Given the description of an element on the screen output the (x, y) to click on. 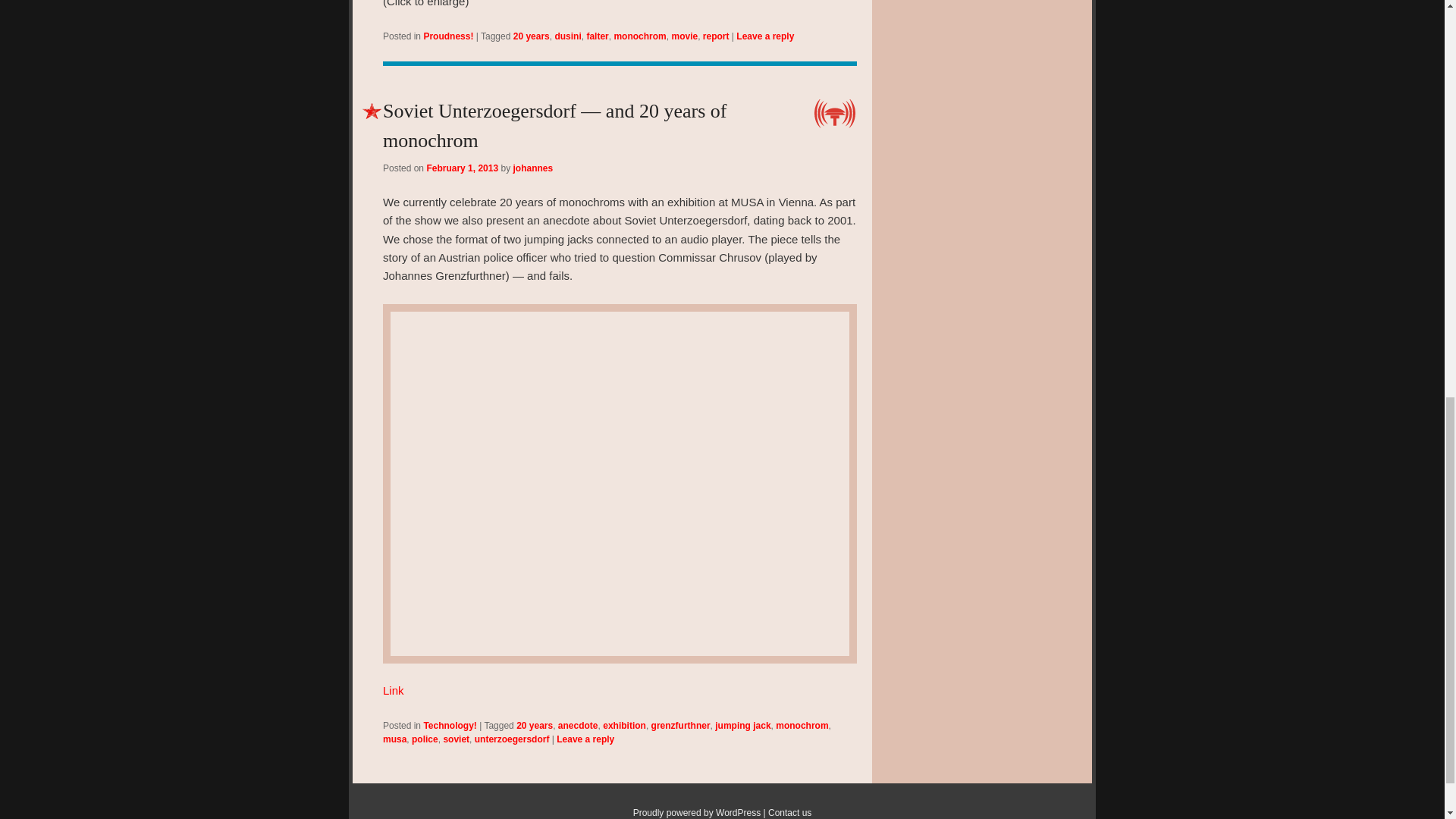
Leave a reply (764, 36)
dusini (567, 36)
johannes (532, 167)
falter (597, 36)
report (716, 36)
Link (393, 689)
movie (684, 36)
monochrom (638, 36)
February 1, 2013 (461, 167)
Technology! (449, 725)
